Given the description of an element on the screen output the (x, y) to click on. 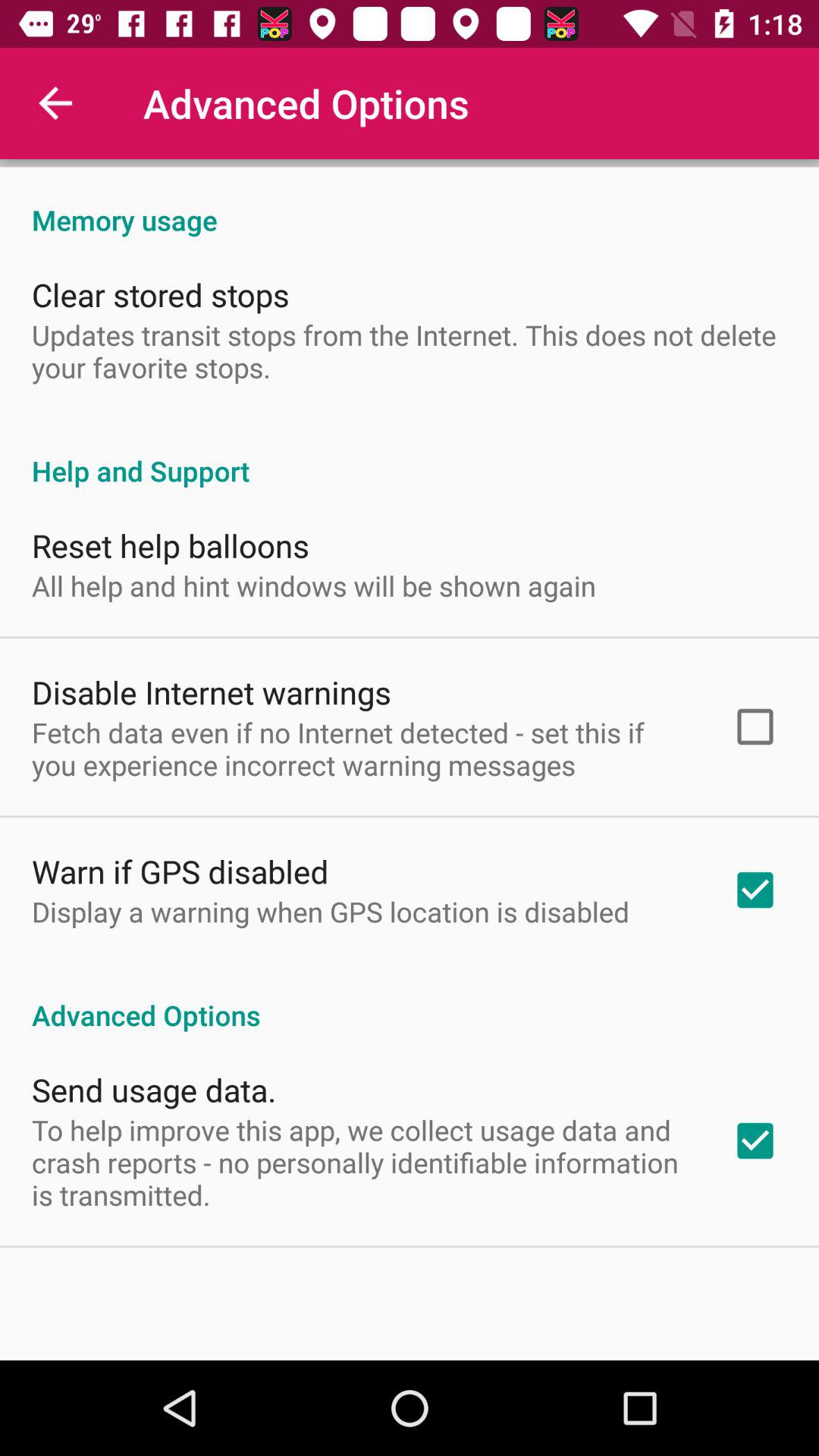
turn on the item above memory usage item (409, 163)
